Given the description of an element on the screen output the (x, y) to click on. 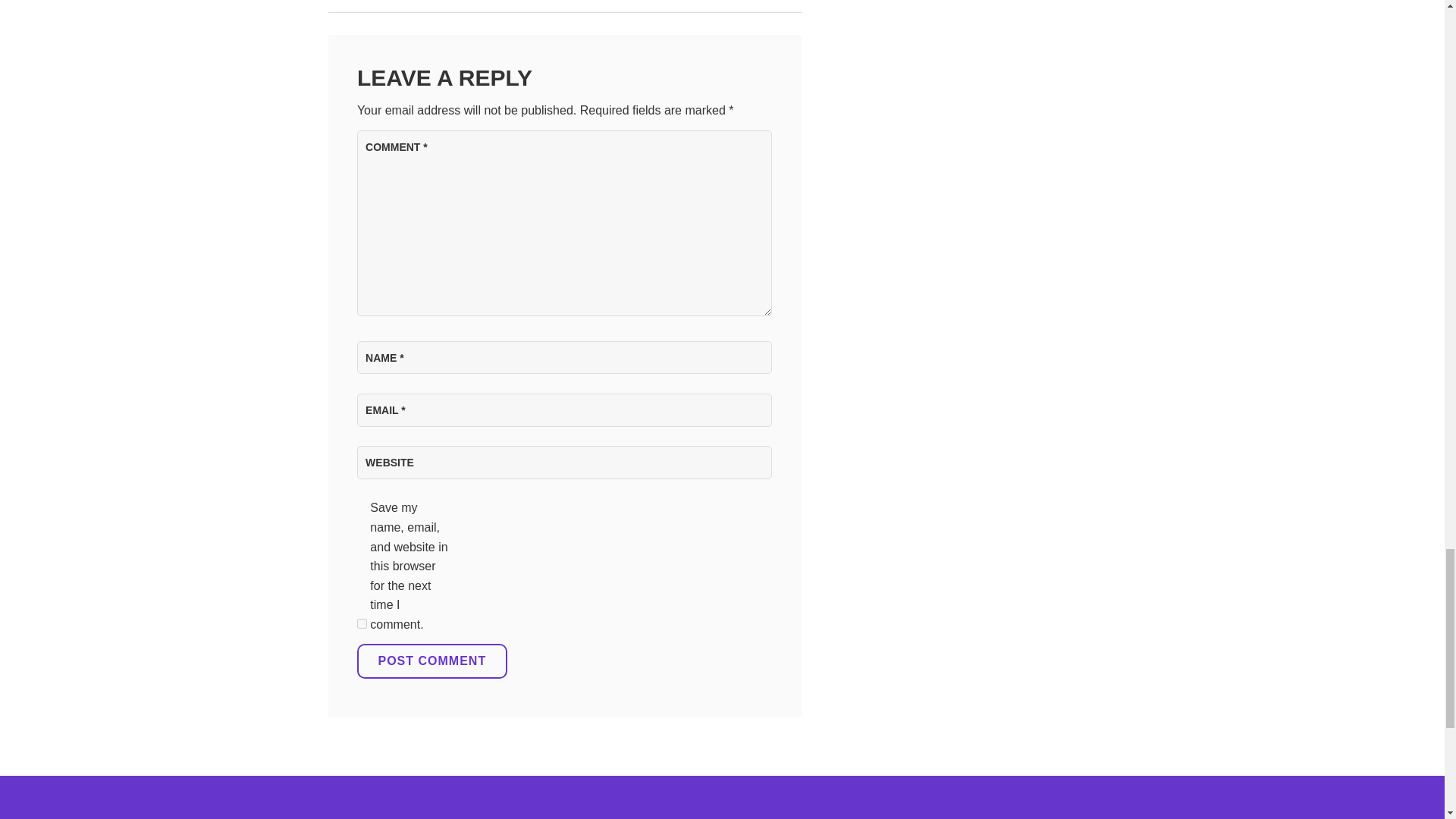
Post Comment (431, 660)
Post Comment (431, 660)
yes (361, 623)
